Given the description of an element on the screen output the (x, y) to click on. 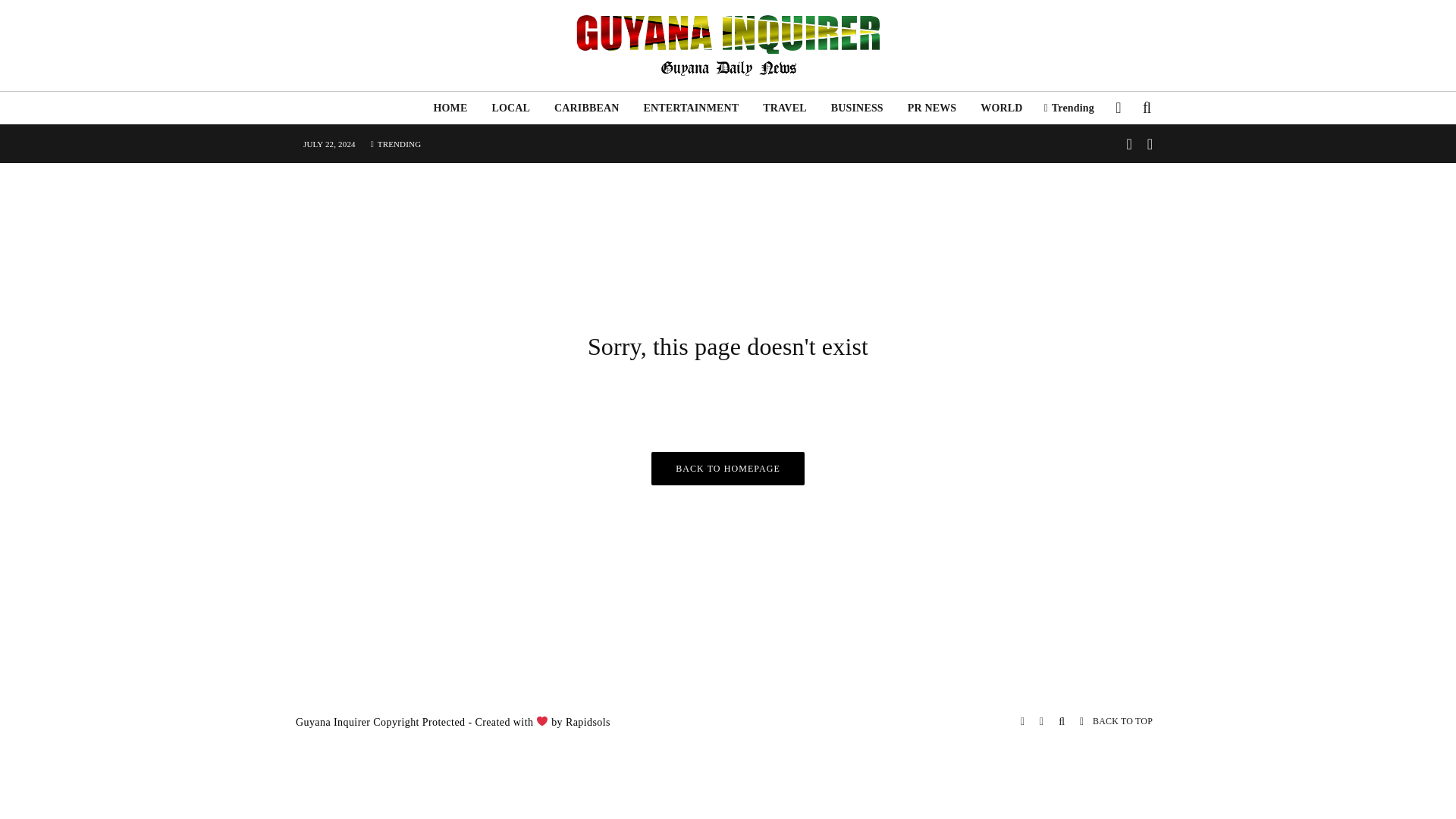
ENTERTAINMENT (690, 107)
HOME (449, 107)
LOCAL (510, 107)
TRAVEL (784, 107)
CARIBBEAN (585, 107)
